Given the description of an element on the screen output the (x, y) to click on. 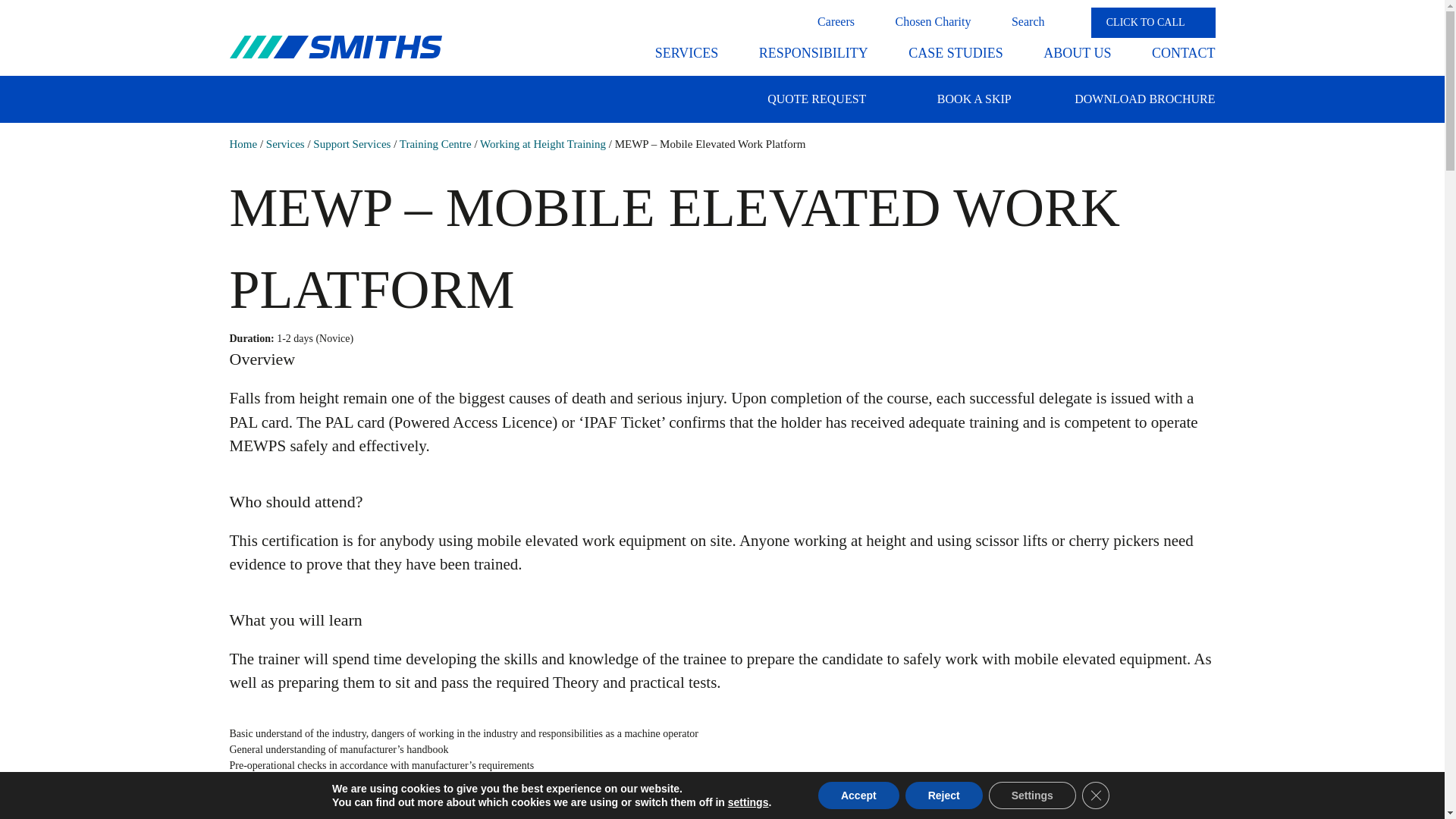
CASE STUDIES (955, 52)
RESPONSIBILITY (812, 52)
Search (1037, 21)
Chosen Charity (933, 21)
SERVICES (687, 52)
CONTACT (1183, 52)
Smiths Gloucester Ltd (334, 47)
ABOUT US (1076, 52)
Careers (835, 21)
